Given the description of an element on the screen output the (x, y) to click on. 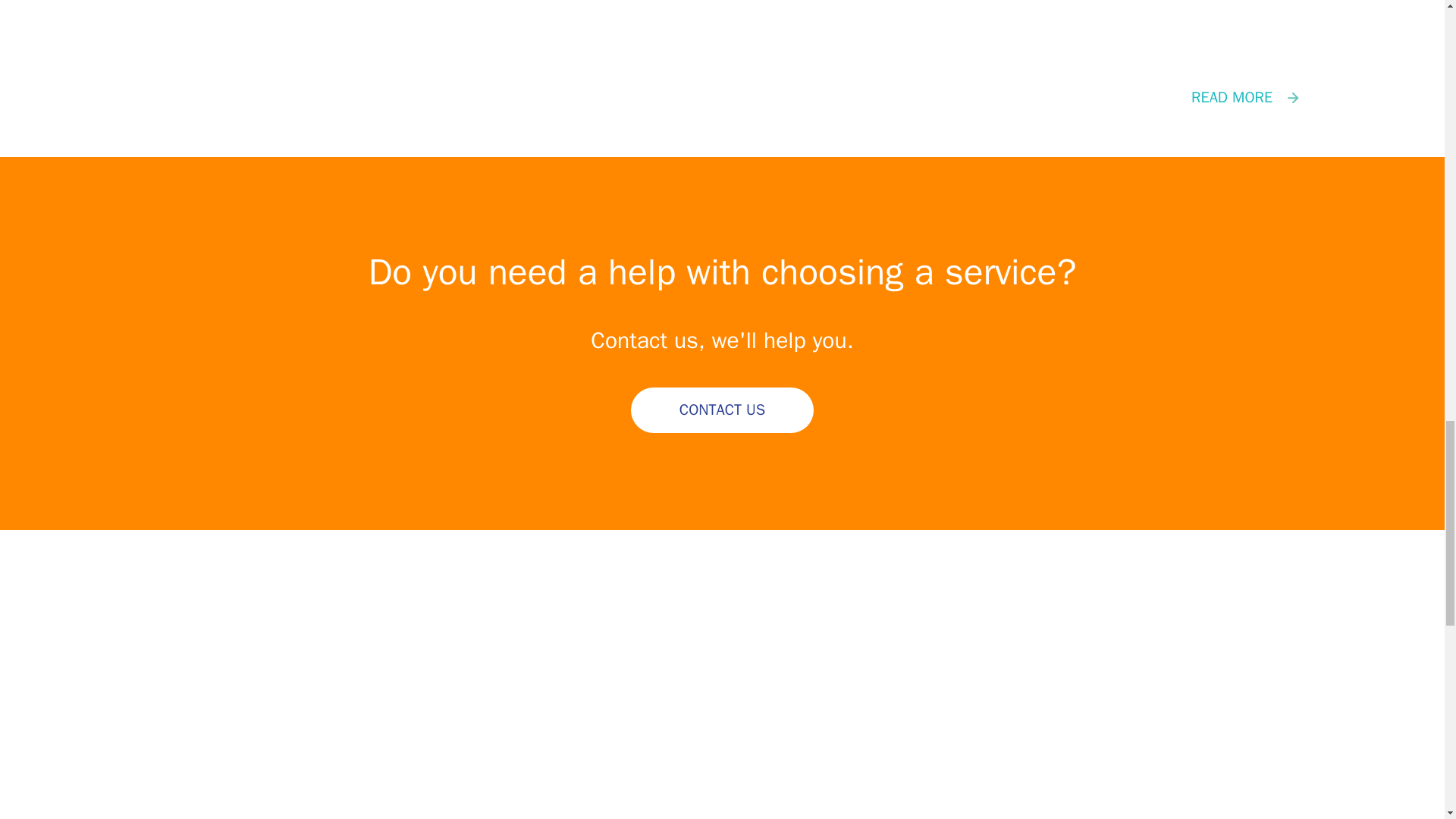
Smart healthcare (721, 97)
CONTACT US (721, 410)
READ MORE (721, 97)
